Given the description of an element on the screen output the (x, y) to click on. 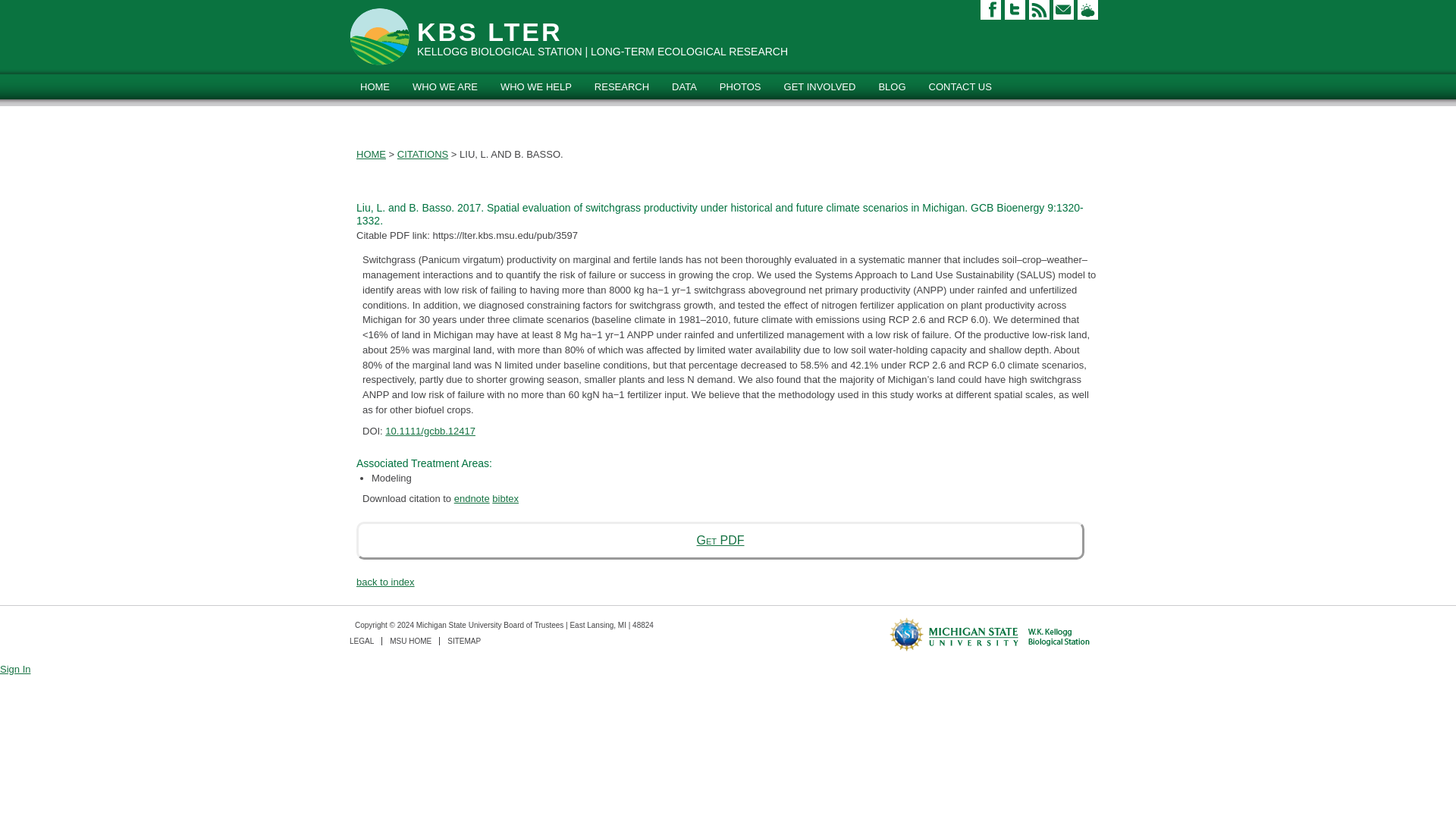
HOME (375, 86)
WHO WE HELP (536, 86)
WHO WE ARE (445, 86)
RESEARCH (622, 86)
